Given the description of an element on the screen output the (x, y) to click on. 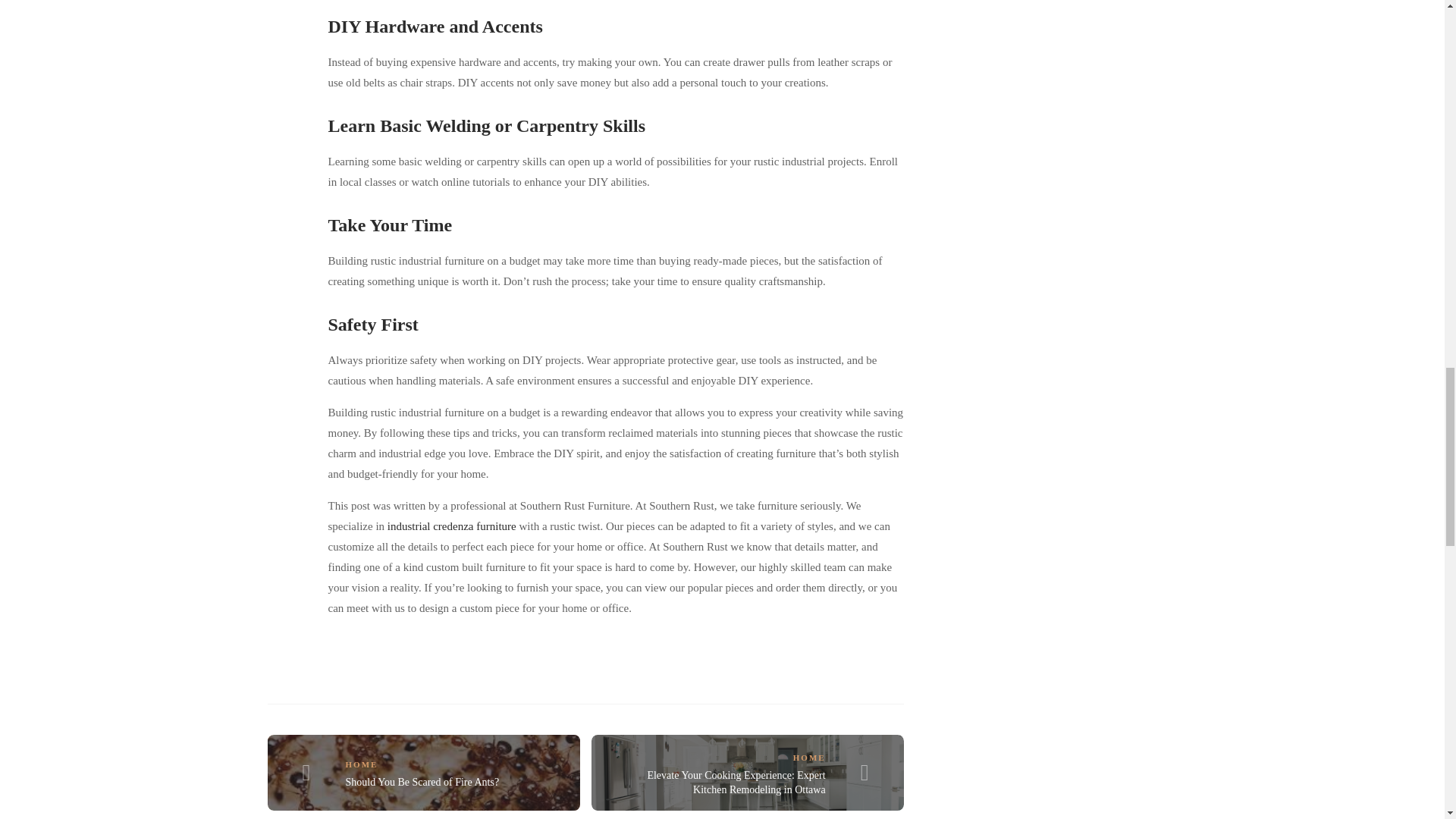
industrial credenza furniture (451, 526)
HOME (362, 764)
HOME (809, 757)
Should You Be Scared of Fire Ants? (422, 781)
